Given the description of an element on the screen output the (x, y) to click on. 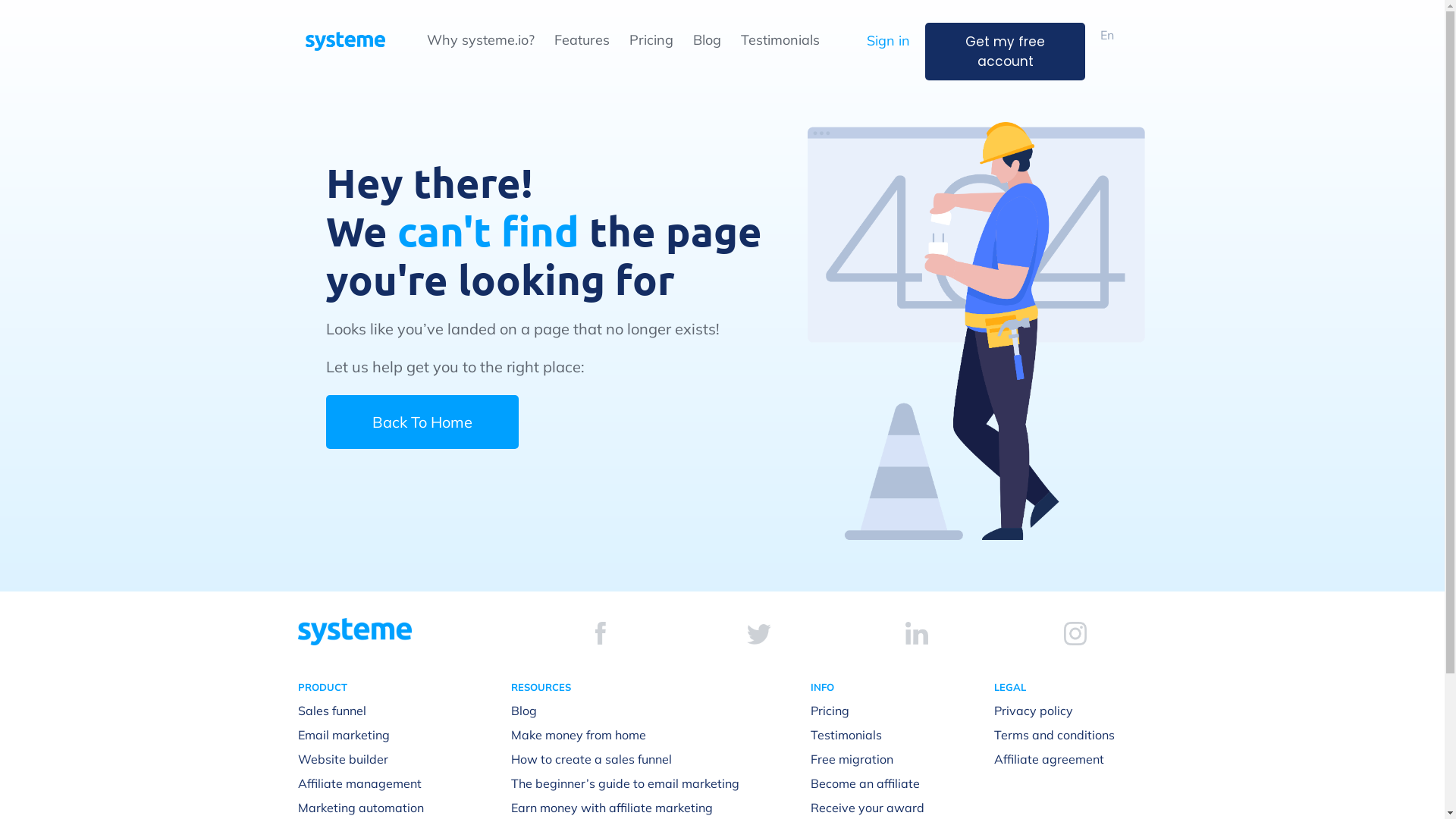
Website builder Element type: text (342, 758)
Blog Element type: text (707, 39)
Testimonials Element type: text (779, 39)
Free migration Element type: text (851, 758)
Sign in Element type: text (888, 40)
Back To Home Element type: text (422, 421)
Make money from home Element type: text (578, 734)
Affiliate agreement Element type: text (1049, 758)
Pricing Element type: text (651, 39)
How to create a sales funnel Element type: text (591, 758)
Blog Element type: text (523, 710)
Testimonials Element type: text (845, 734)
Earn money with affiliate marketing Element type: text (611, 807)
Why systeme.io? Element type: text (479, 39)
Receive your award Element type: text (867, 807)
Privacy policy Element type: text (1033, 710)
Features Element type: text (580, 39)
Email marketing Element type: text (343, 734)
Marketing automation Element type: text (360, 807)
Terms and conditions Element type: text (1054, 734)
Get my free account Element type: text (1005, 51)
Affiliate management Element type: text (358, 782)
Sales funnel Element type: text (331, 710)
Pricing Element type: text (829, 710)
Become an affiliate Element type: text (864, 782)
